Given the description of an element on the screen output the (x, y) to click on. 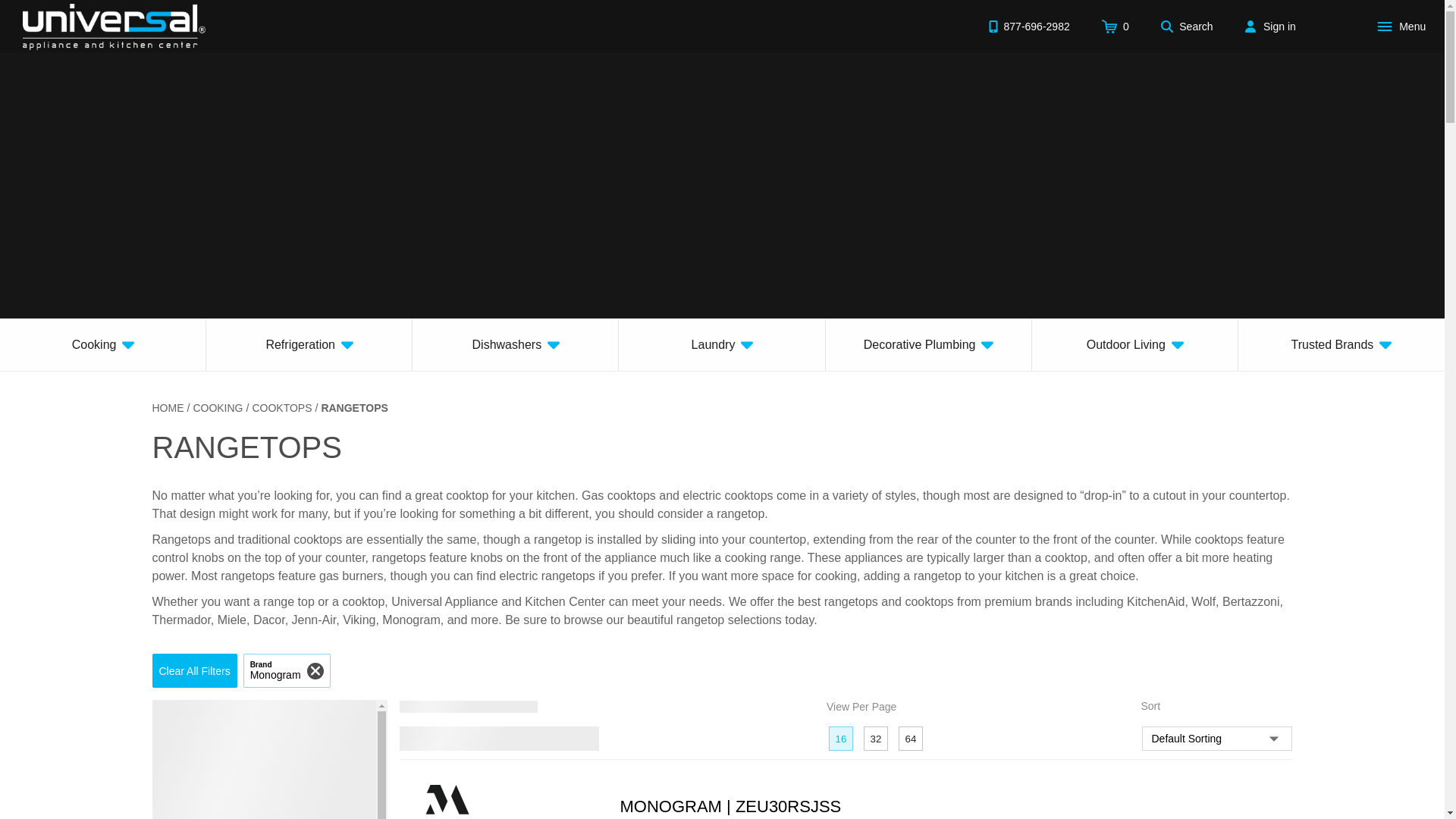
Search (1186, 26)
Refrigeration (309, 344)
3 (496, 738)
4 (525, 738)
16 (840, 738)
COOKING (217, 408)
Sign in (1270, 26)
877-696-2982 (1028, 26)
COOKTOPS (281, 408)
5 (555, 738)
Remove Monogram Brand Filter (286, 670)
Cooking (103, 344)
Dishwashers (515, 344)
32 (875, 738)
HOME (167, 408)
